Given the description of an element on the screen output the (x, y) to click on. 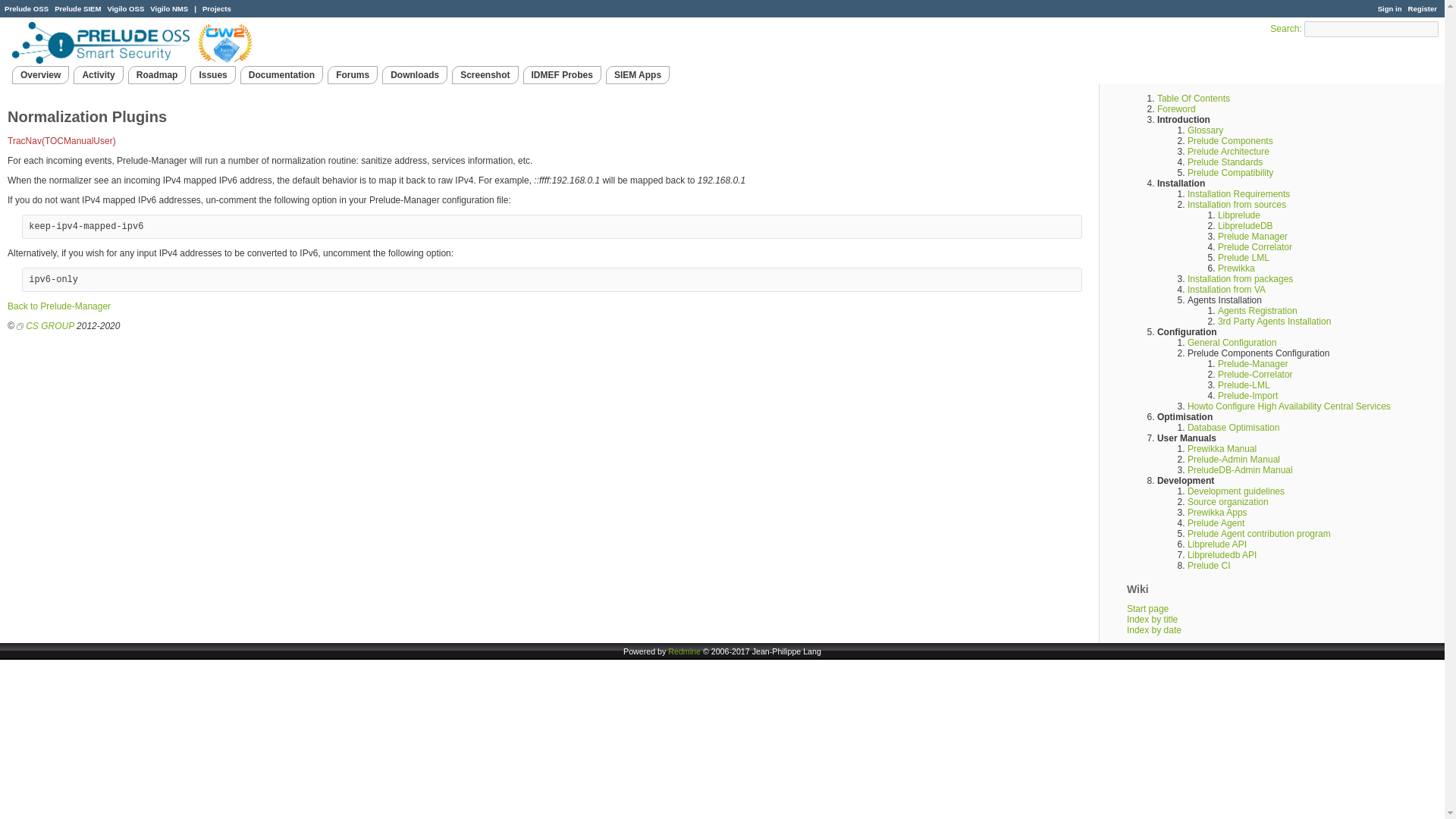
IDMEF Probes (561, 75)
Installation from VA (1226, 289)
LibpreludeDB (1244, 225)
Installation Requirements (1239, 194)
Prelude Components (1230, 140)
Forums (352, 75)
Search (1283, 28)
Documentation (281, 75)
Prelude LML (1243, 257)
Vigilo NMS (168, 8)
